Given the description of an element on the screen output the (x, y) to click on. 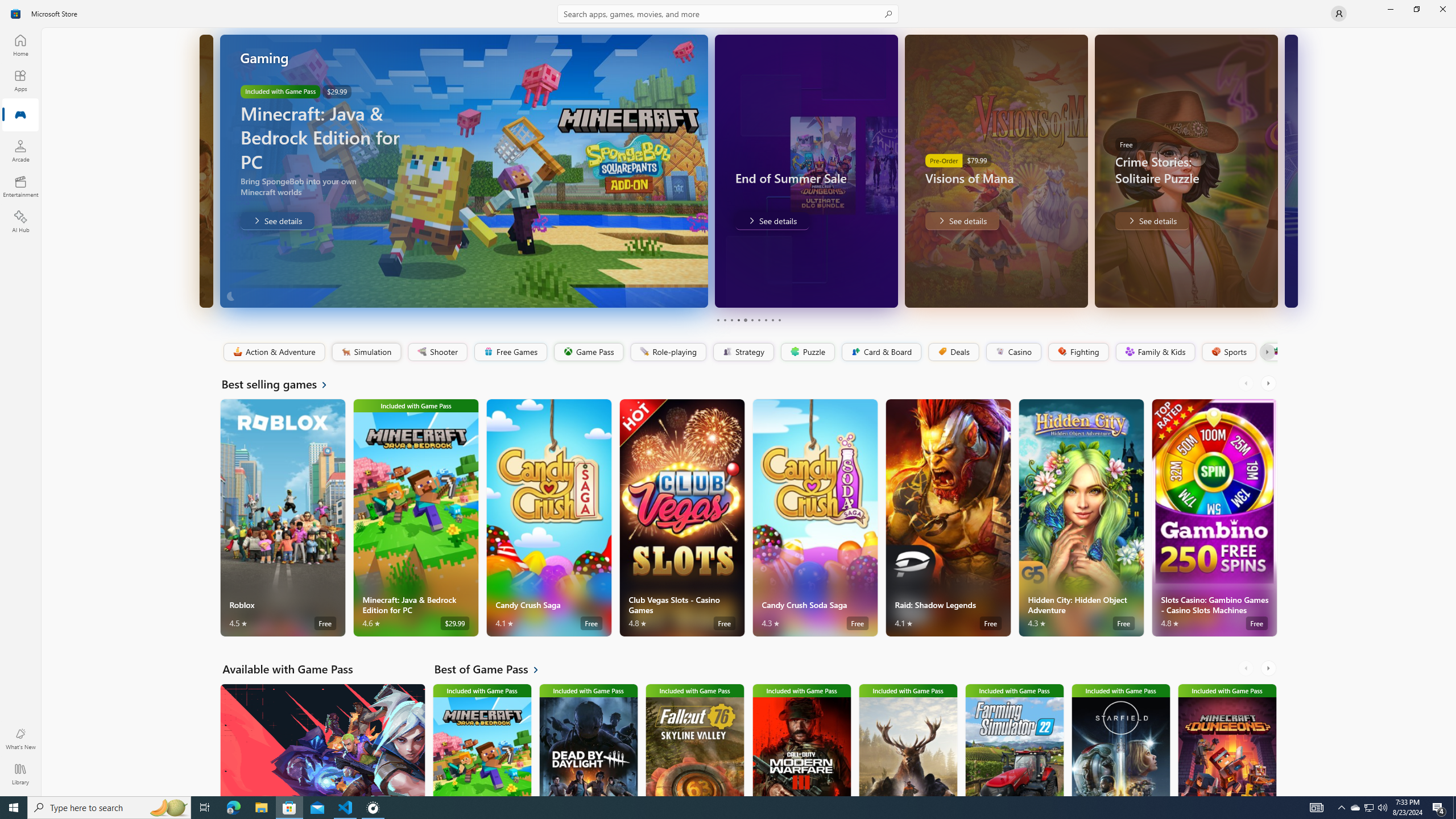
Page 4 (738, 319)
See all  Best selling games (280, 383)
Deals (952, 352)
Strategy (742, 352)
AutomationID: Image (1290, 170)
Minimize Microsoft Store (1390, 9)
Available with Game Pass. VALORANT (322, 739)
Page 7 (758, 319)
Arcade (20, 150)
Page 6 (751, 319)
